Given the description of an element on the screen output the (x, y) to click on. 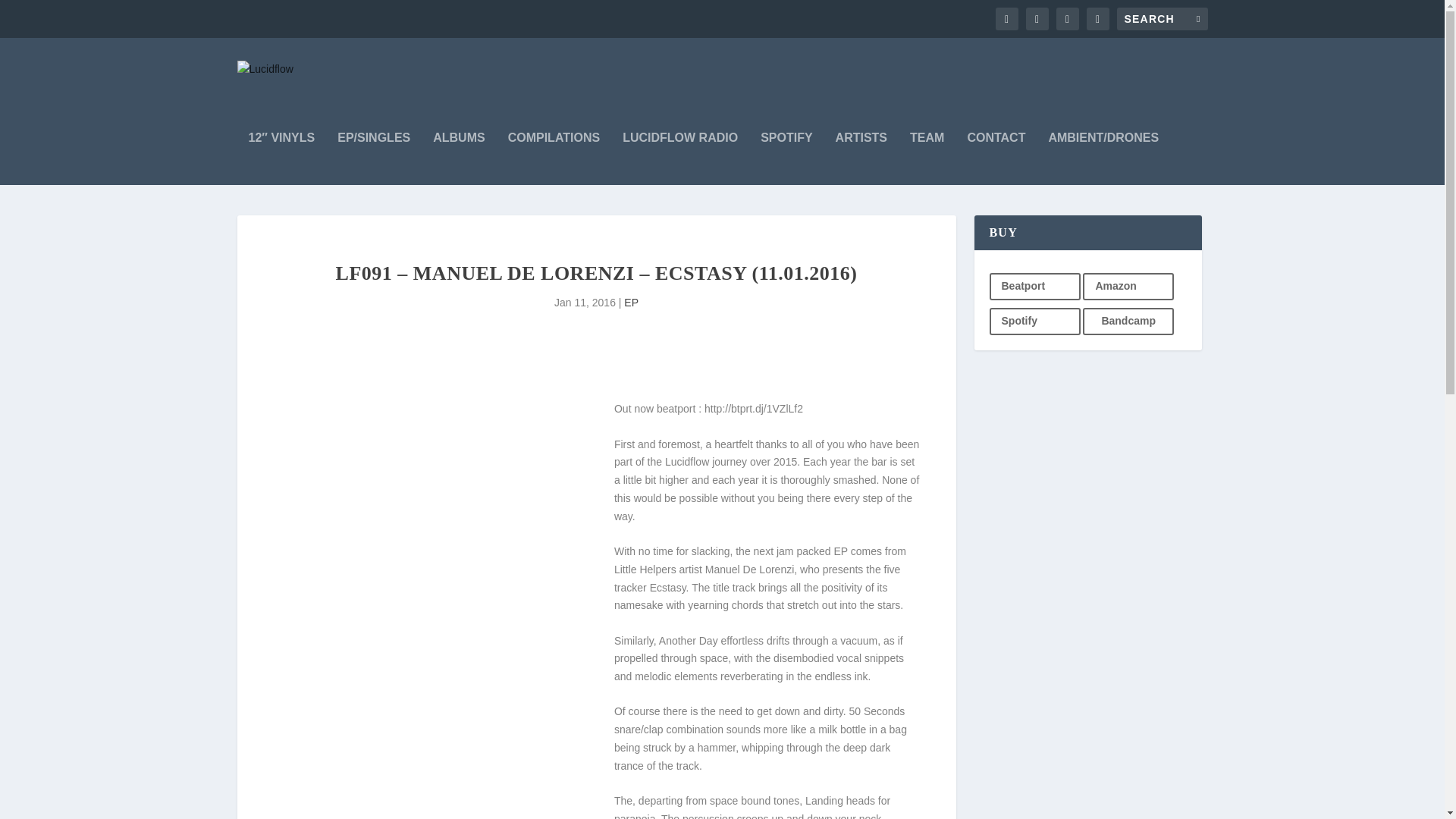
COMPILATIONS (553, 158)
CONTACT (995, 158)
Bandcamp (1128, 320)
Search for: (1161, 18)
SPOTIFY (786, 158)
Amazon (1128, 286)
LUCIDFLOW RADIO (680, 158)
Spotify (1034, 320)
ALBUMS (458, 158)
Beatport (1034, 286)
